Given the description of an element on the screen output the (x, y) to click on. 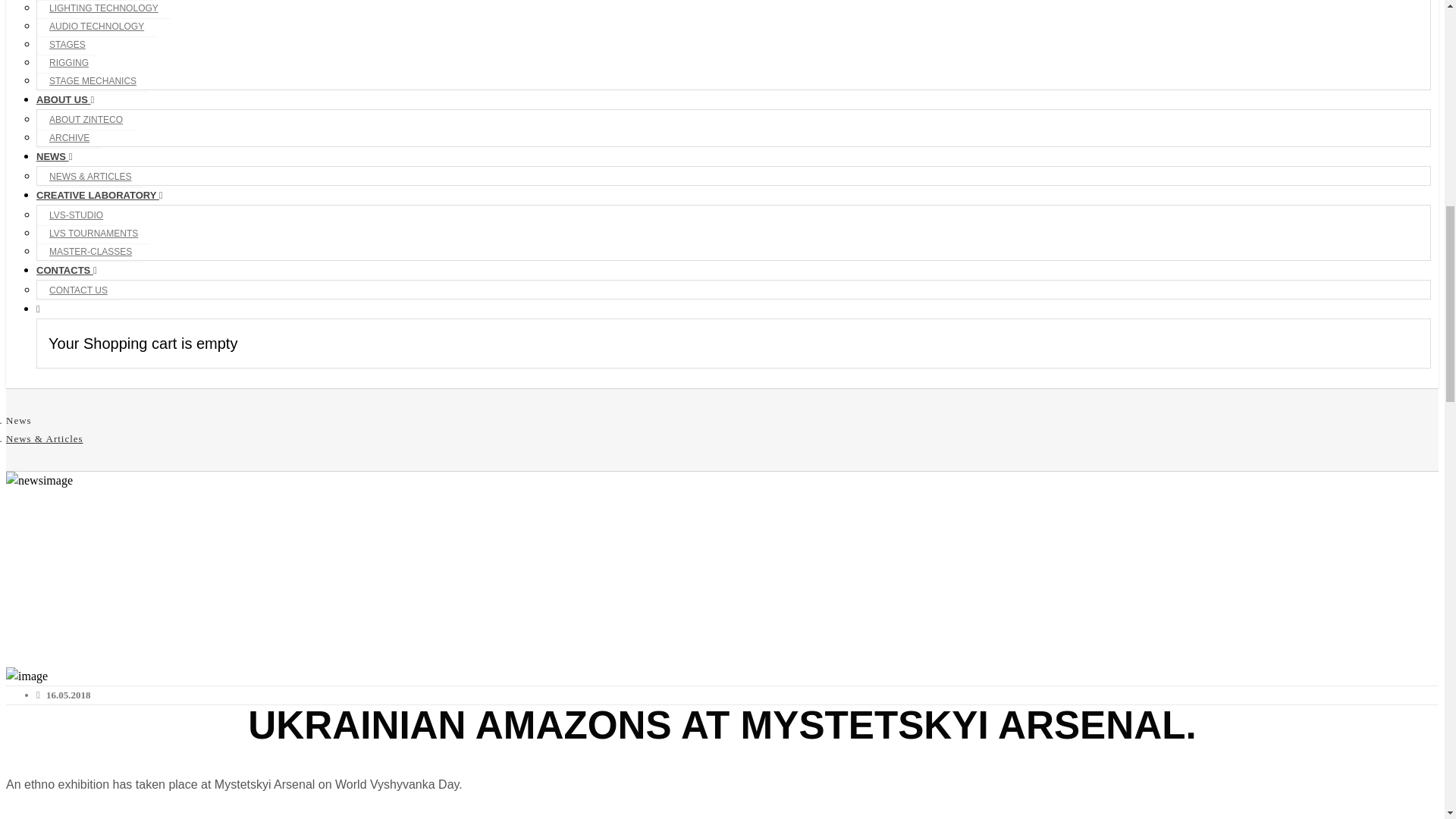
STAGE MECHANICS (92, 81)
LIGHTING TECHNOLOGY (103, 9)
Shopping cart (38, 308)
CREATIVE LABORATORY (99, 194)
ABOUT US (65, 99)
RIGGING (68, 63)
AUDIO TECHNOLOGY (96, 26)
ARCHIVE (69, 137)
NEWS (53, 156)
STAGES (67, 45)
ABOUT ZINTECO (86, 119)
LVS-STUDIO (76, 215)
